Given the description of an element on the screen output the (x, y) to click on. 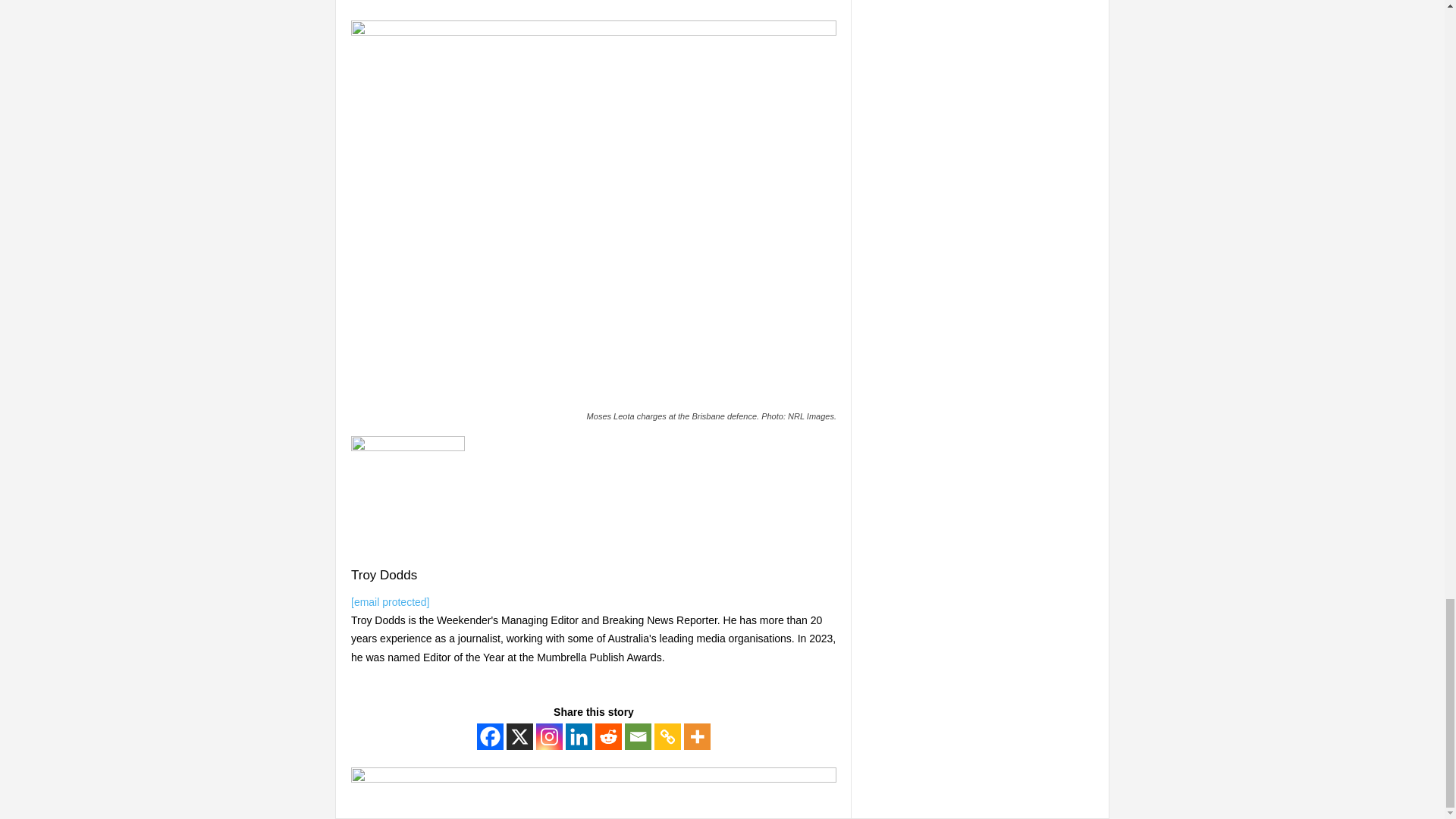
Facebook (490, 736)
X (519, 736)
